Given the description of an element on the screen output the (x, y) to click on. 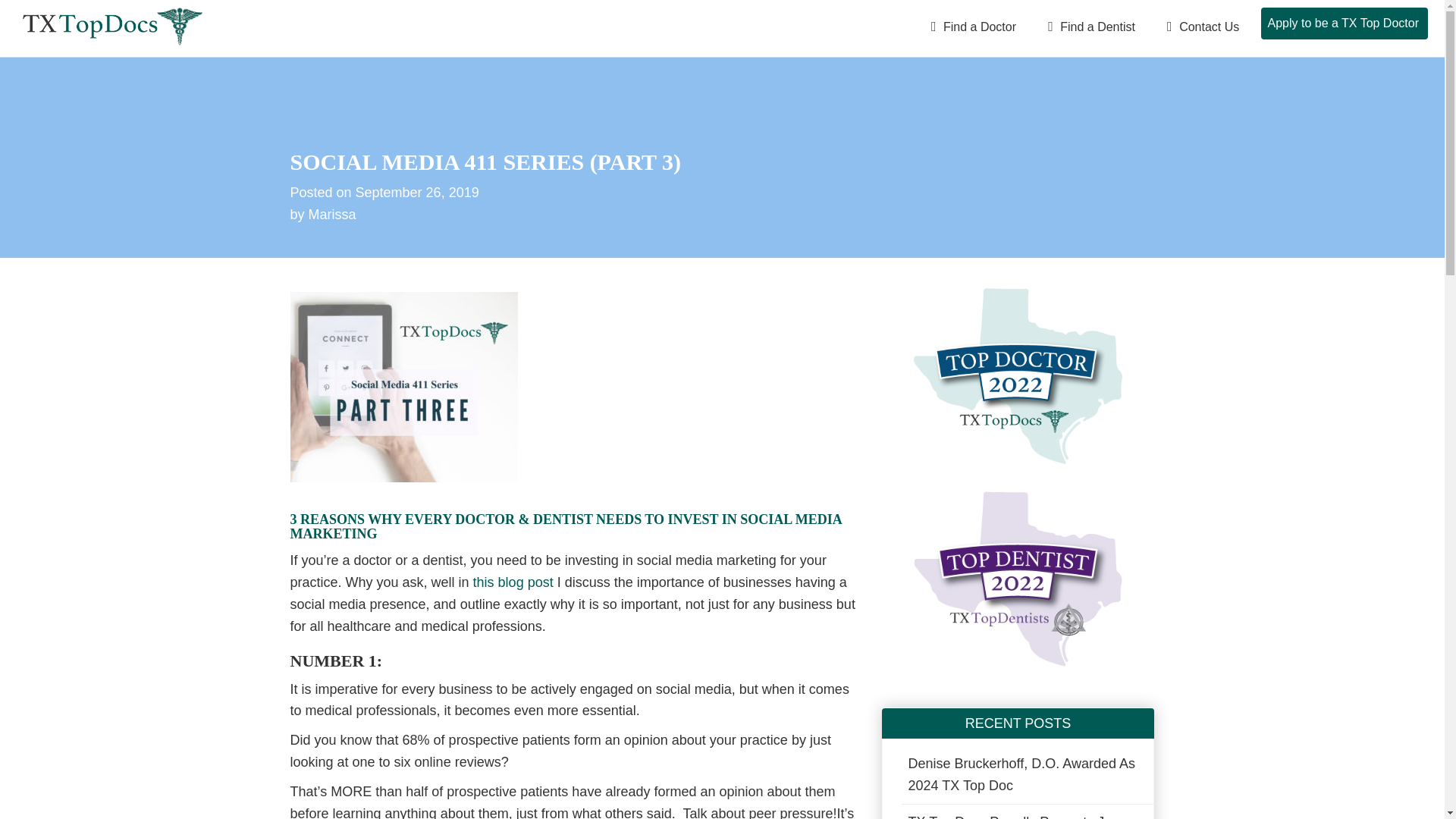
Find a Doctor (972, 26)
September 26, 2019 (417, 192)
Contact Us (1201, 26)
Find a Dentist (1089, 26)
Apply to be a TX Top Doctor (1344, 23)
TX Top Docs Proudly Presents June 2024 Approved Providers (1027, 811)
Denise Bruckerhoff, D.O. Awarded As 2024 TX Top Doc (1027, 774)
Marissa (332, 214)
this blog post (513, 581)
